Given the description of an element on the screen output the (x, y) to click on. 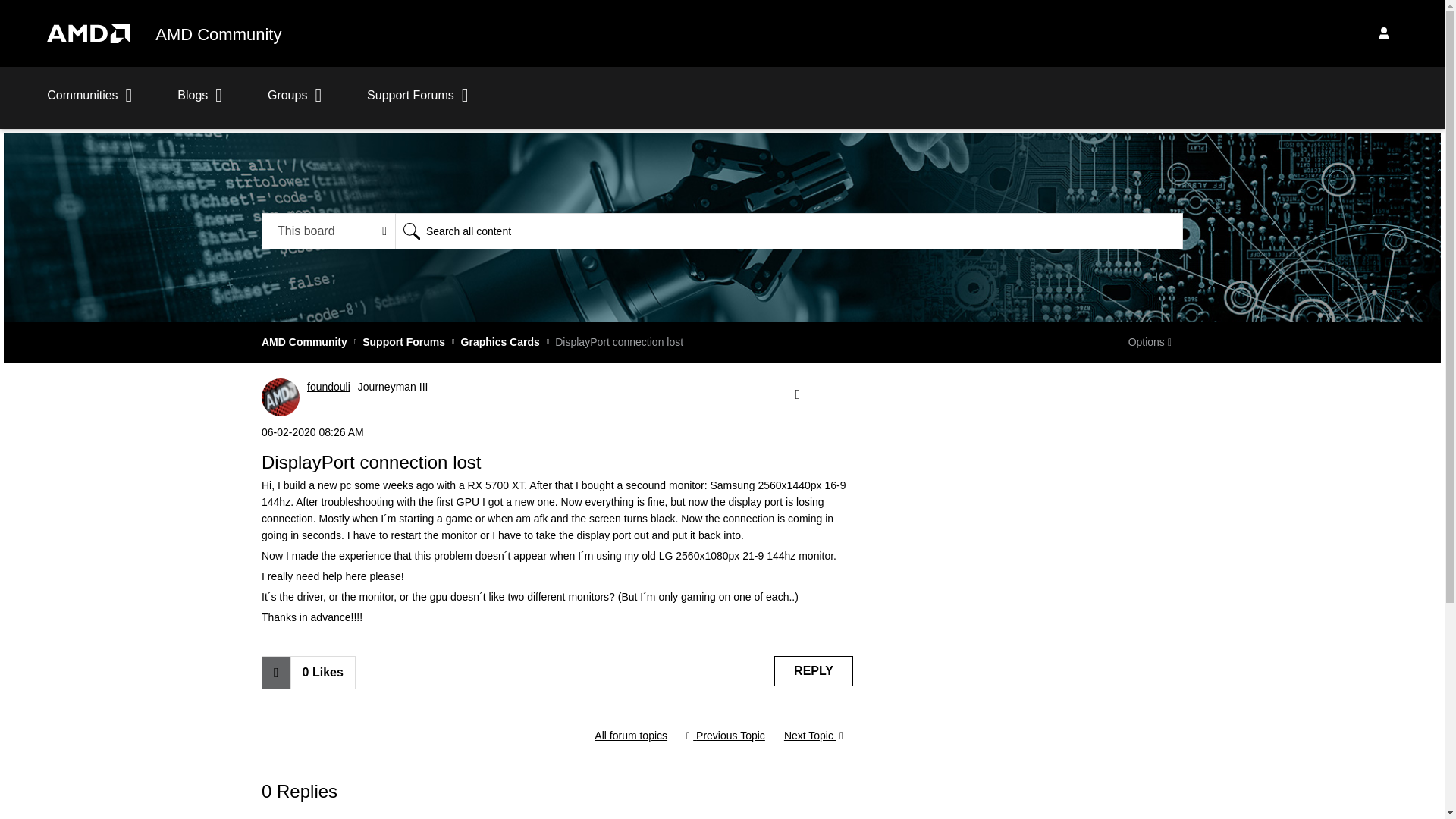
Search (411, 230)
Search Granularity (329, 230)
Search (788, 230)
Blogs (199, 103)
Posted on (557, 432)
Communities (89, 103)
Search (411, 230)
Groups (294, 103)
Sign In (1383, 32)
AMD Logo (88, 32)
